Given the description of an element on the screen output the (x, y) to click on. 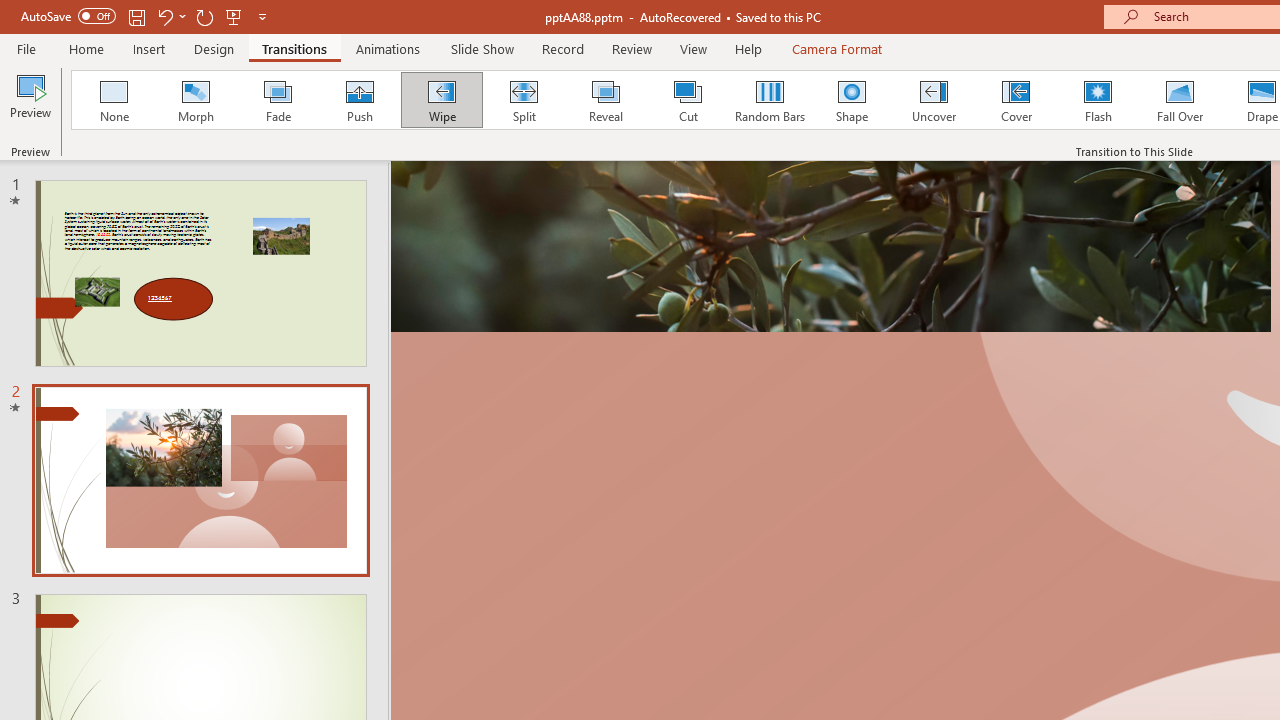
View (693, 48)
AutoSave (68, 16)
Save (136, 15)
More Options (182, 15)
Camera Format (836, 48)
Transitions (294, 48)
Cover (1016, 100)
Fall Over (1180, 100)
Flash (1098, 100)
Undo (170, 15)
